Given the description of an element on the screen output the (x, y) to click on. 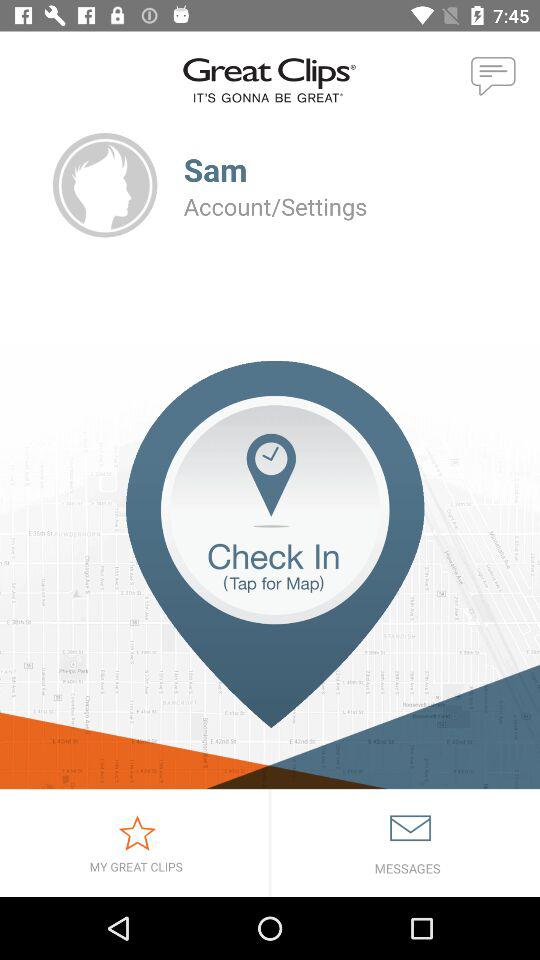
select saved list (134, 843)
